Given the description of an element on the screen output the (x, y) to click on. 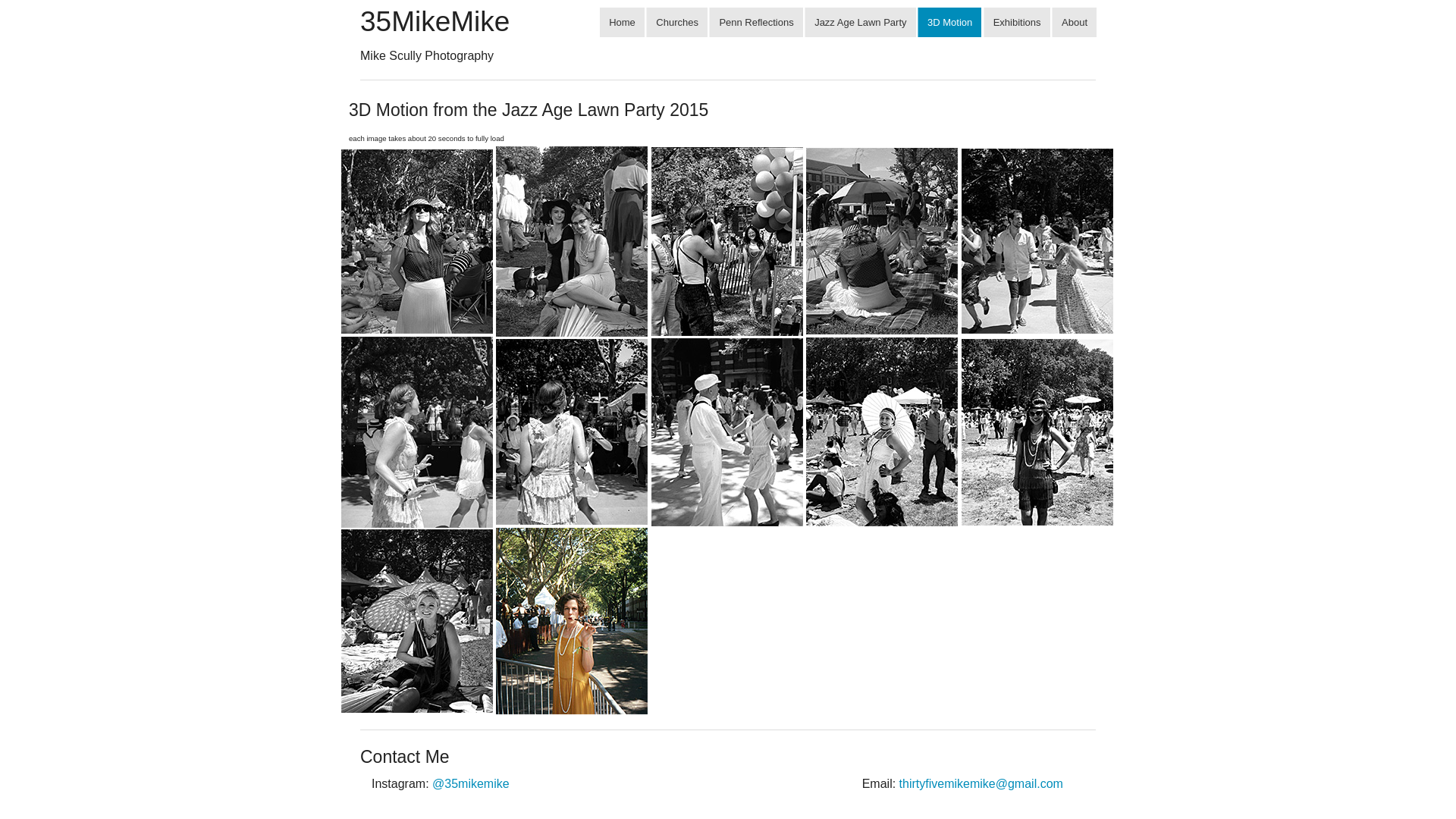
3D Motion Element type: text (949, 22)
Home Element type: text (621, 22)
Penn Reflections Element type: text (755, 22)
Exhibitions Element type: text (1016, 22)
About Element type: text (1073, 22)
@35mikemike Element type: text (470, 783)
Jazz Age Lawn Party Element type: text (859, 22)
thirtyfivemikemike@gmail.com Element type: text (981, 783)
Churches Element type: text (676, 22)
